Given the description of an element on the screen output the (x, y) to click on. 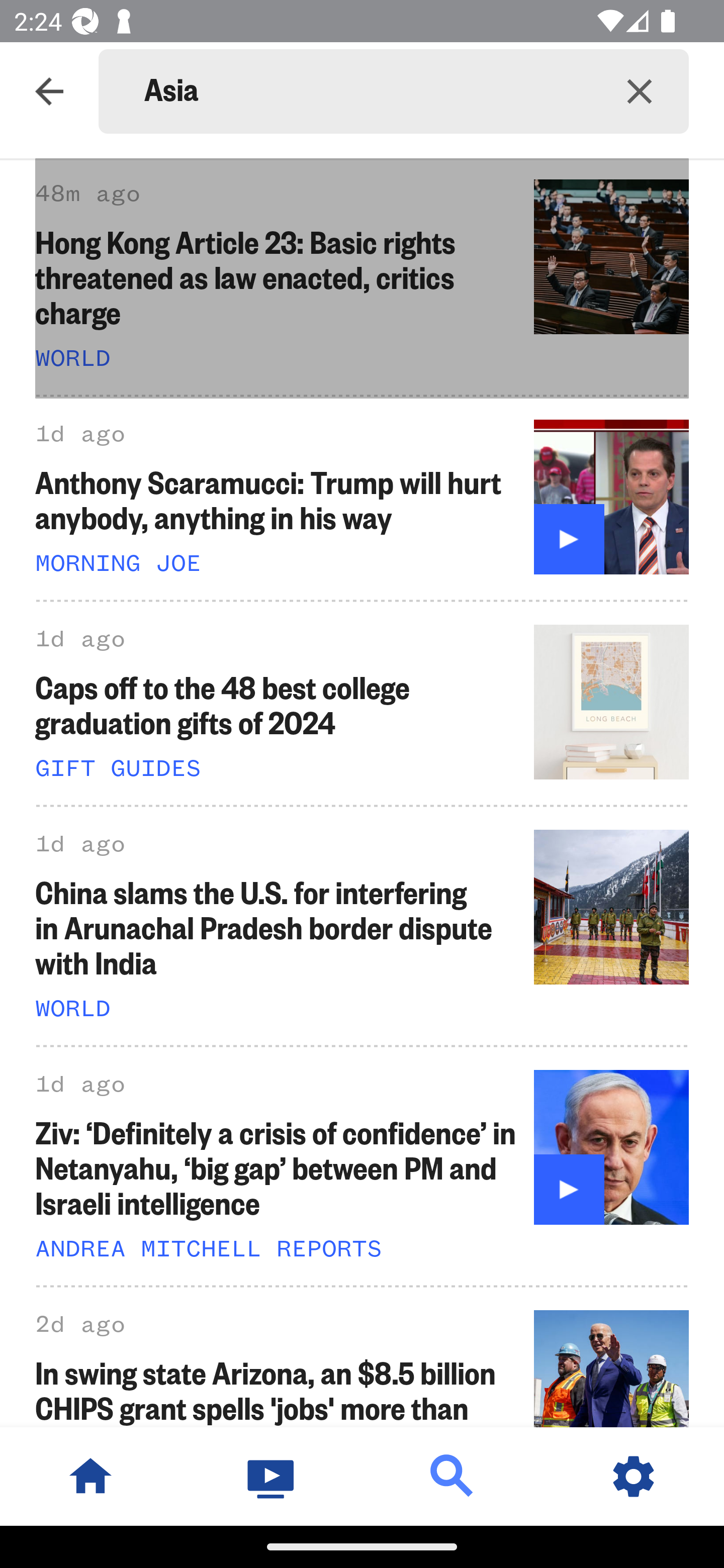
Navigate up (49, 91)
Clear query (639, 90)
Asia (367, 91)
NBC News Home (90, 1475)
Watch (271, 1475)
Settings (633, 1475)
